Given the description of an element on the screen output the (x, y) to click on. 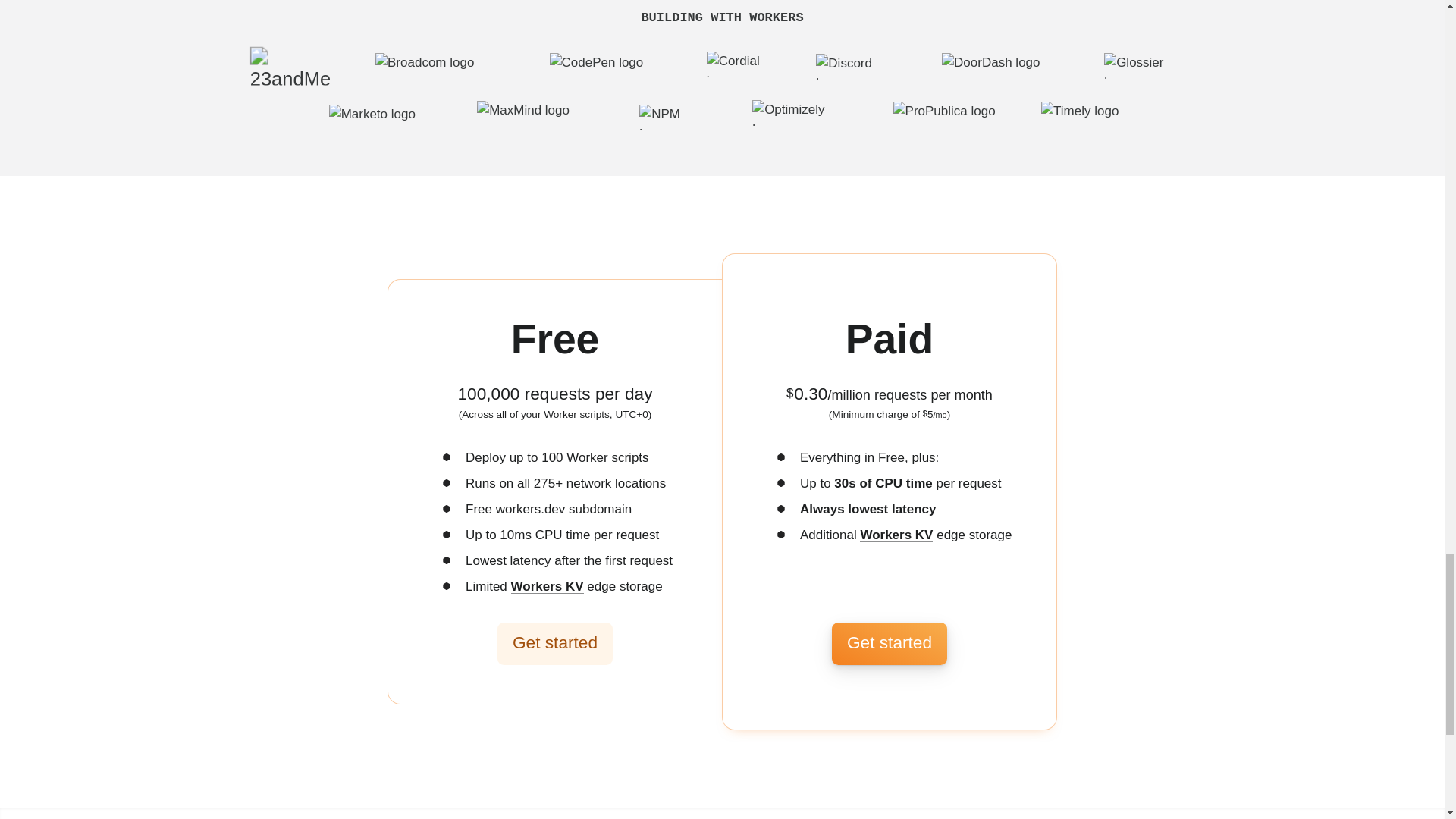
Get started (889, 643)
Workers KV (547, 586)
Get started (554, 643)
Workers KV (896, 534)
